Given the description of an element on the screen output the (x, y) to click on. 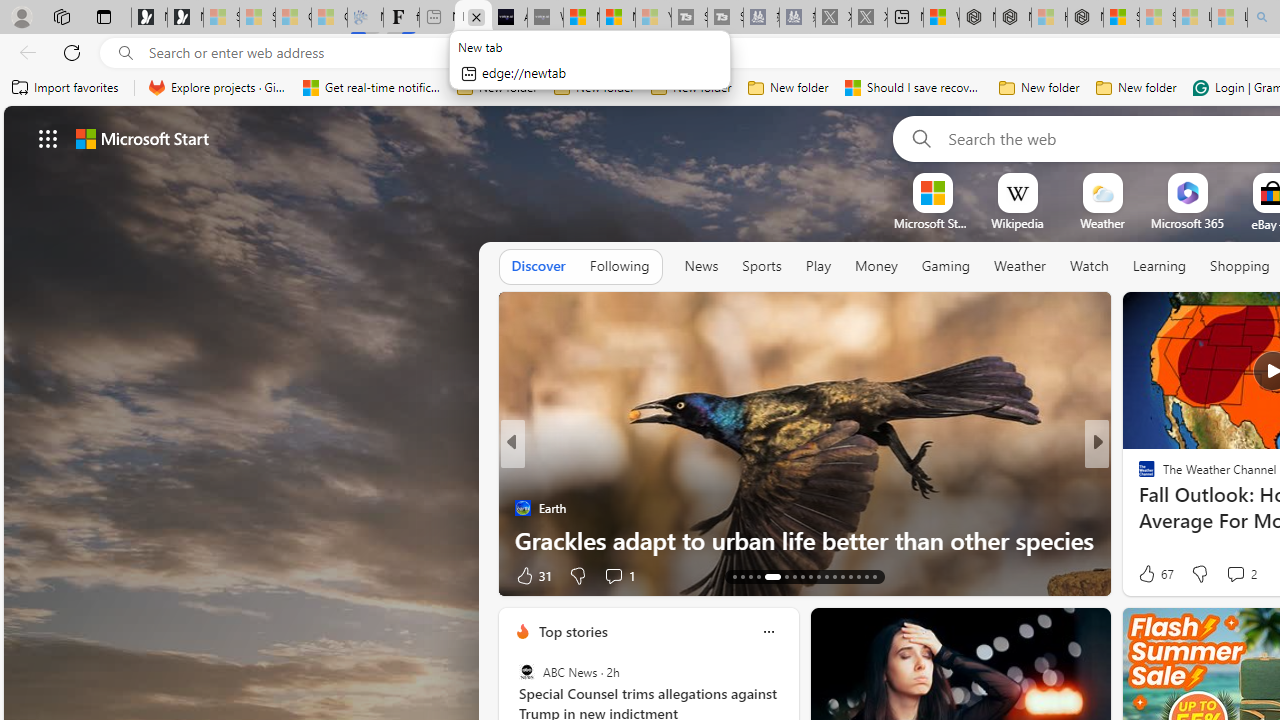
Watch (1089, 265)
AutomationID: tab-23 (793, 576)
The Daily Beast (1138, 475)
AI Voice Changer for PC and Mac - Voice.ai (509, 17)
Close tab (476, 16)
Workspaces (61, 16)
Learning (1159, 267)
The Weather Channel (1138, 475)
View comments 3 Comment (1241, 574)
Import favorites (65, 88)
CNBC (1138, 475)
48 Like (1149, 574)
